Given the description of an element on the screen output the (x, y) to click on. 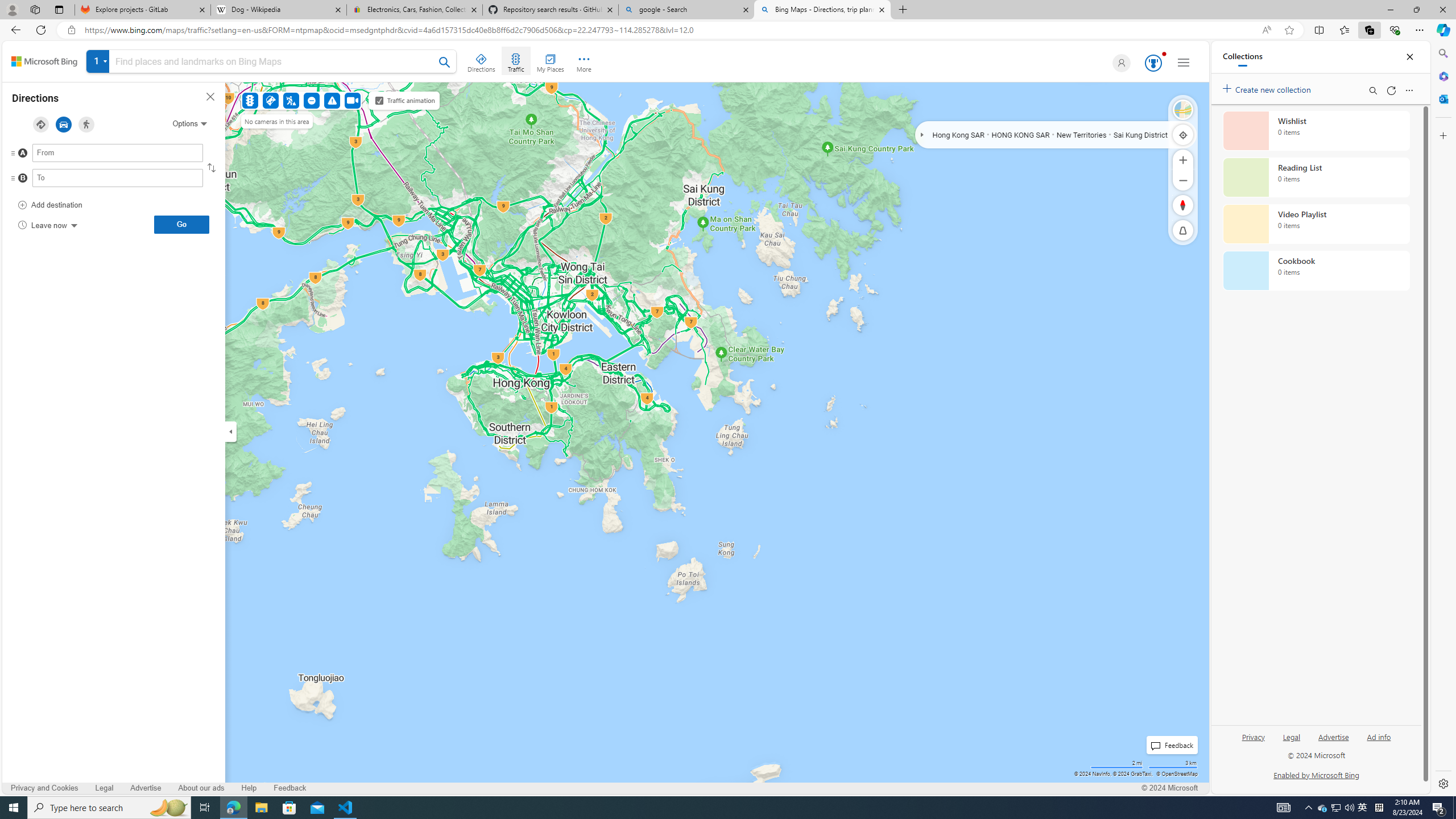
Browser essentials (1394, 29)
Options (188, 123)
Expand/Collapse Cards (230, 431)
Reverse (210, 166)
Road (1182, 109)
Legal (1291, 736)
